Given the description of an element on the screen output the (x, y) to click on. 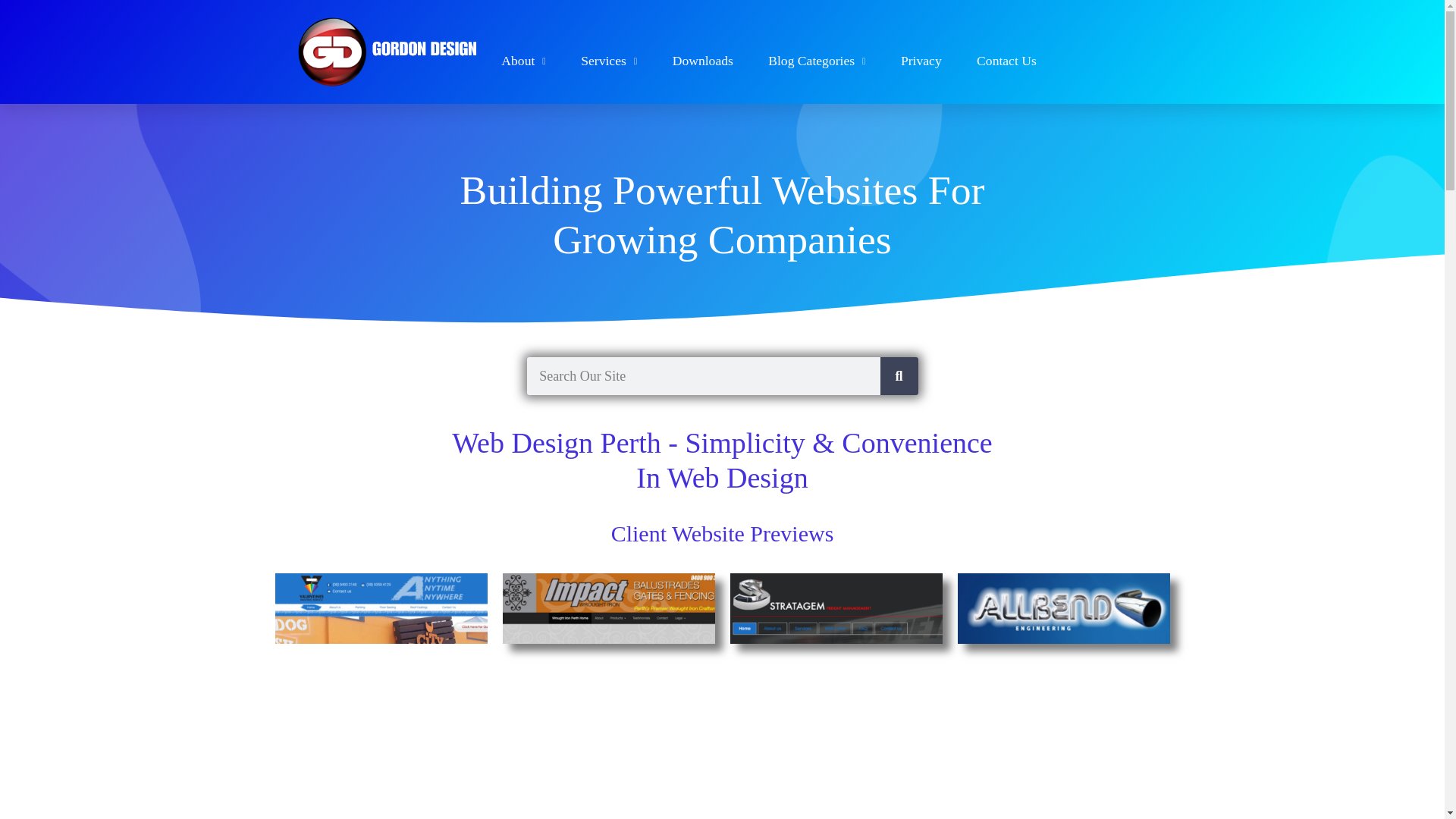
Services (608, 61)
Downloads (702, 61)
About (522, 61)
Contact Us (1006, 61)
Privacy (921, 61)
Blog Categories (816, 61)
